Given the description of an element on the screen output the (x, y) to click on. 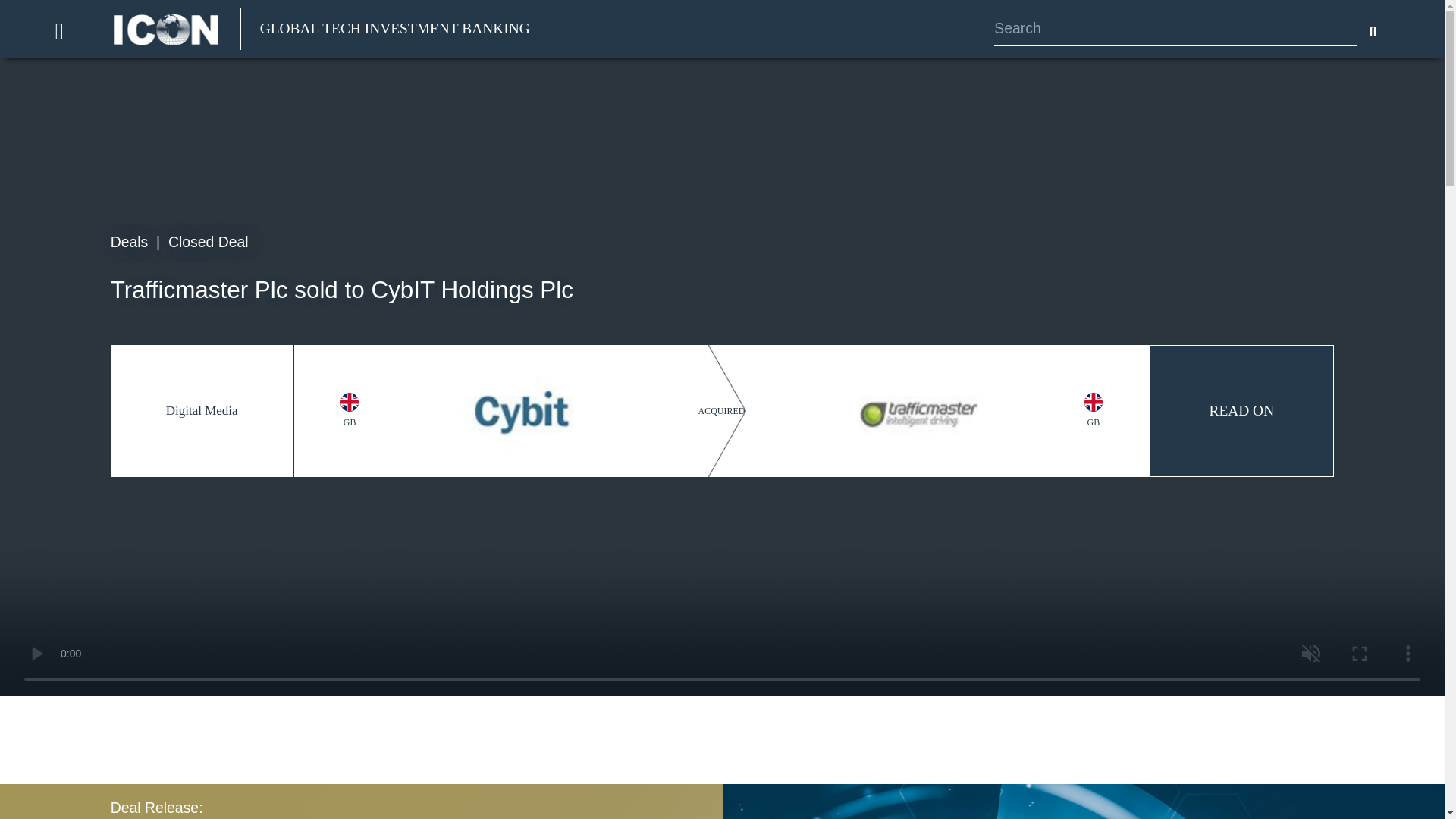
EMEIA (1093, 402)
READ ON (1240, 410)
Deals (129, 241)
Digital Media (201, 410)
EMEIA (349, 402)
READ ON (1240, 410)
